Given the description of an element on the screen output the (x, y) to click on. 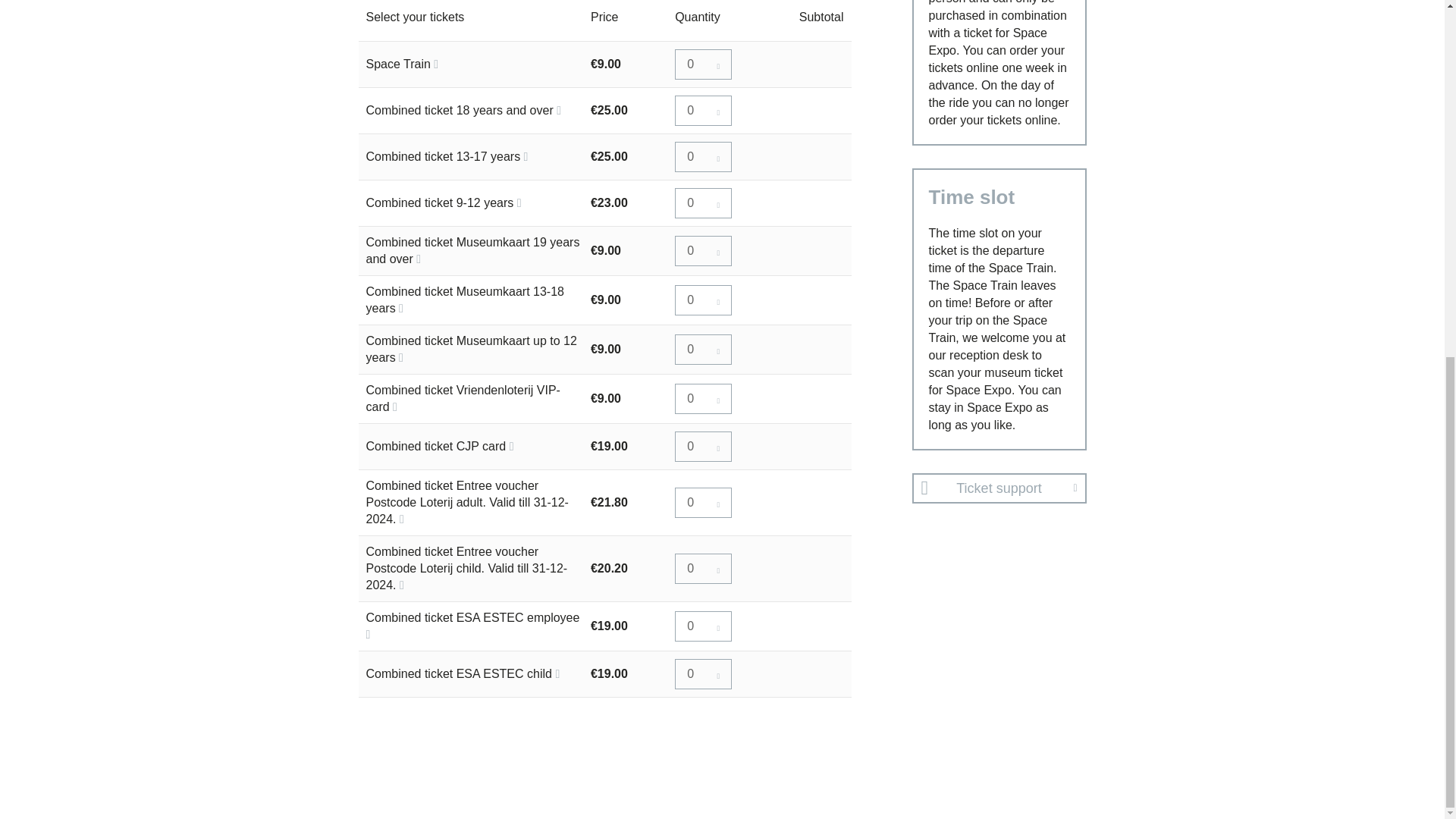
Combined ticket 18 years and over (702, 110)
Combined ticket Vriendenloterij VIP-card (702, 398)
Combined ticket Museumkaart 13-18 years (702, 299)
Ticket support (998, 488)
Combined ticket ESA ESTEC child (702, 674)
Combined ticket  CJP card (702, 446)
Combined ticket  Museumkaart up to 12 years (702, 348)
Space Train (702, 63)
Combined ticket Museumkaart 19 years and over (702, 250)
